Given the description of an element on the screen output the (x, y) to click on. 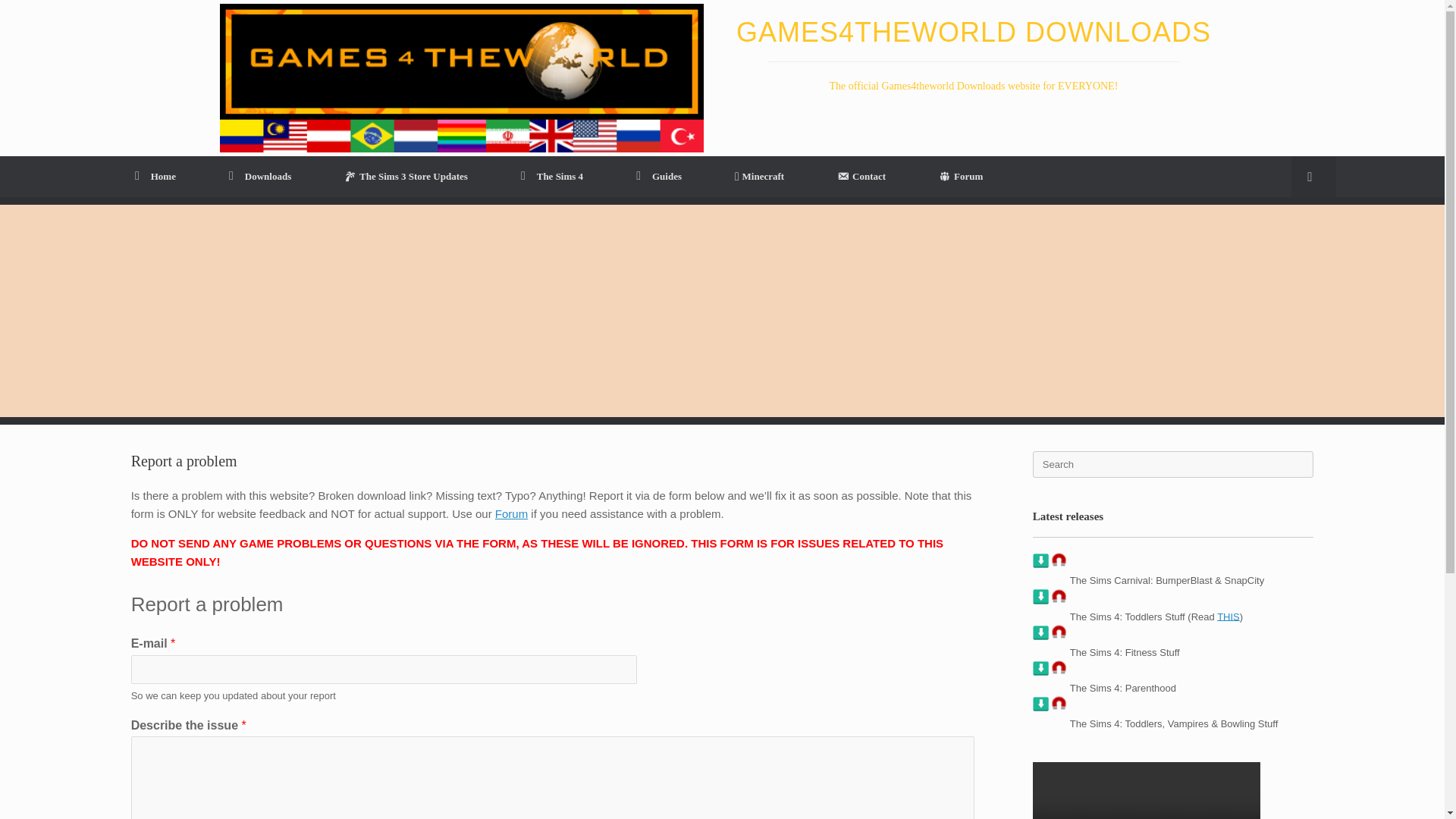
The Sims 3 Store Updates (406, 176)
Games4theworld logo (461, 78)
Home (154, 176)
Downloads (259, 176)
